Given the description of an element on the screen output the (x, y) to click on. 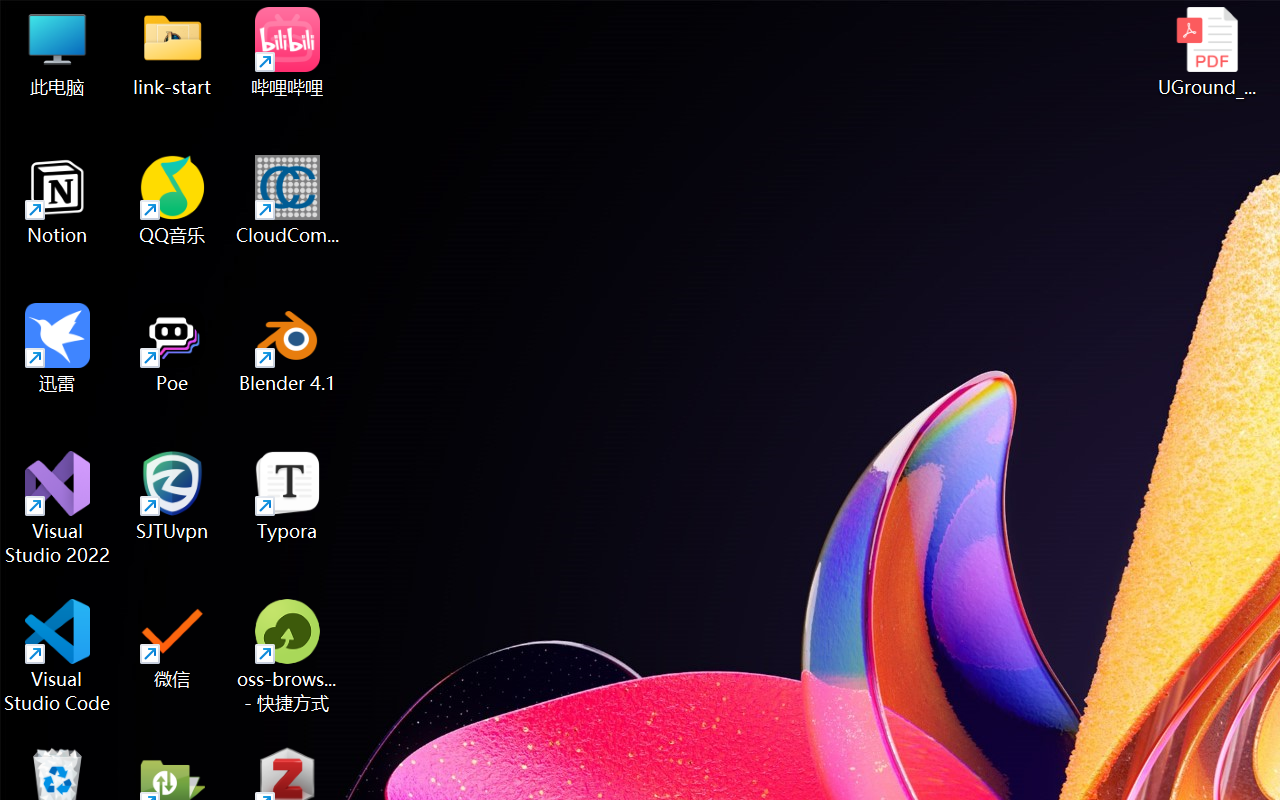
Typora (287, 496)
Visual Studio 2022 (57, 508)
Blender 4.1 (287, 348)
UGround_paper.pdf (1206, 52)
SJTUvpn (172, 496)
CloudCompare (287, 200)
Visual Studio Code (57, 656)
